Given the description of an element on the screen output the (x, y) to click on. 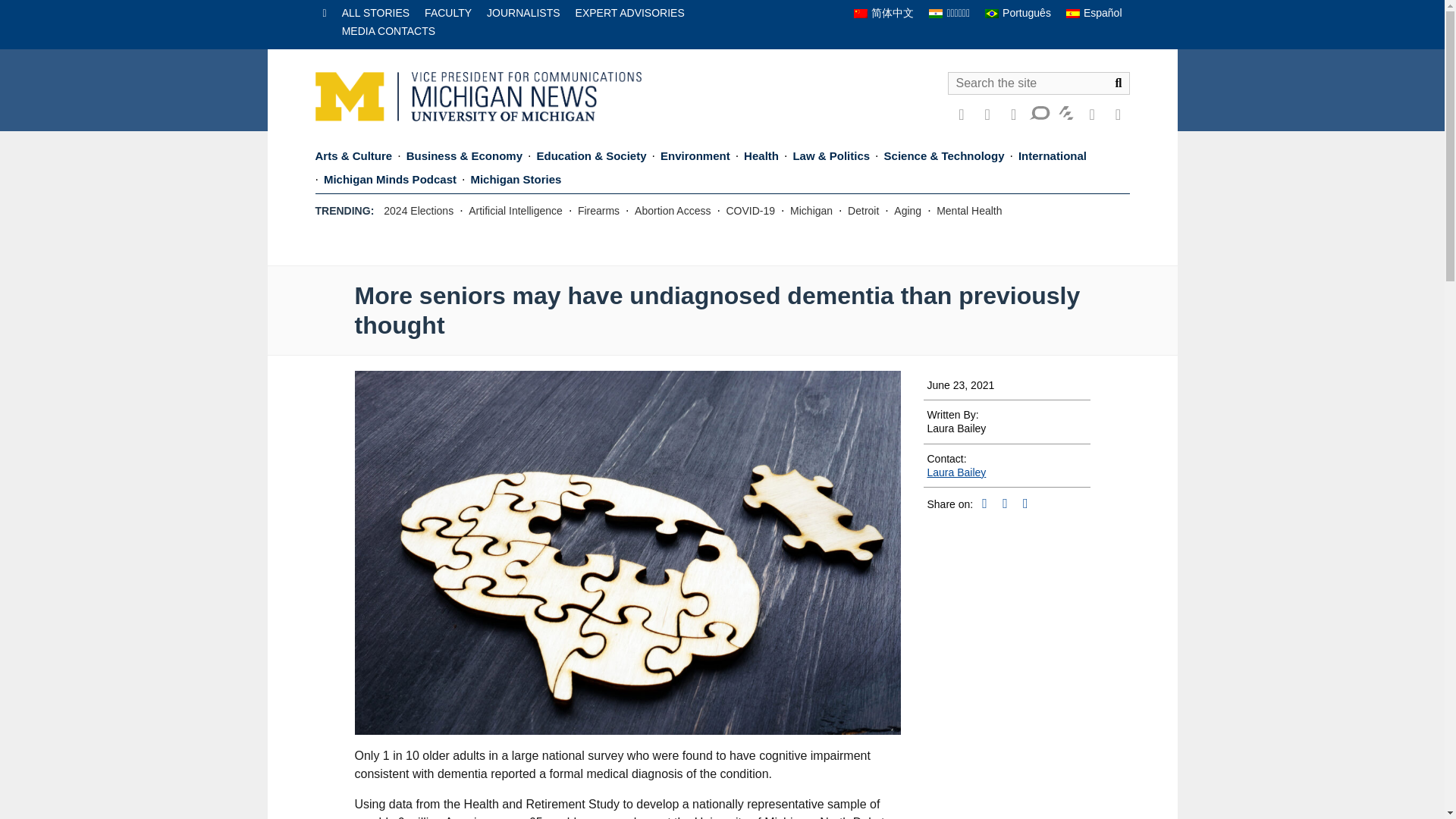
RSS (1117, 114)
EXPERT ADVISORIES (629, 12)
Mental Health (968, 210)
Michigan Stories (515, 181)
ALL STORIES (375, 12)
International (1051, 157)
Firearms (599, 210)
Michigan (811, 210)
Facebook (986, 114)
COVID-19 (750, 210)
Podcasts (1091, 114)
Aging (907, 210)
Health (761, 157)
Futurity (1065, 112)
YouTube (1014, 114)
